Given the description of an element on the screen output the (x, y) to click on. 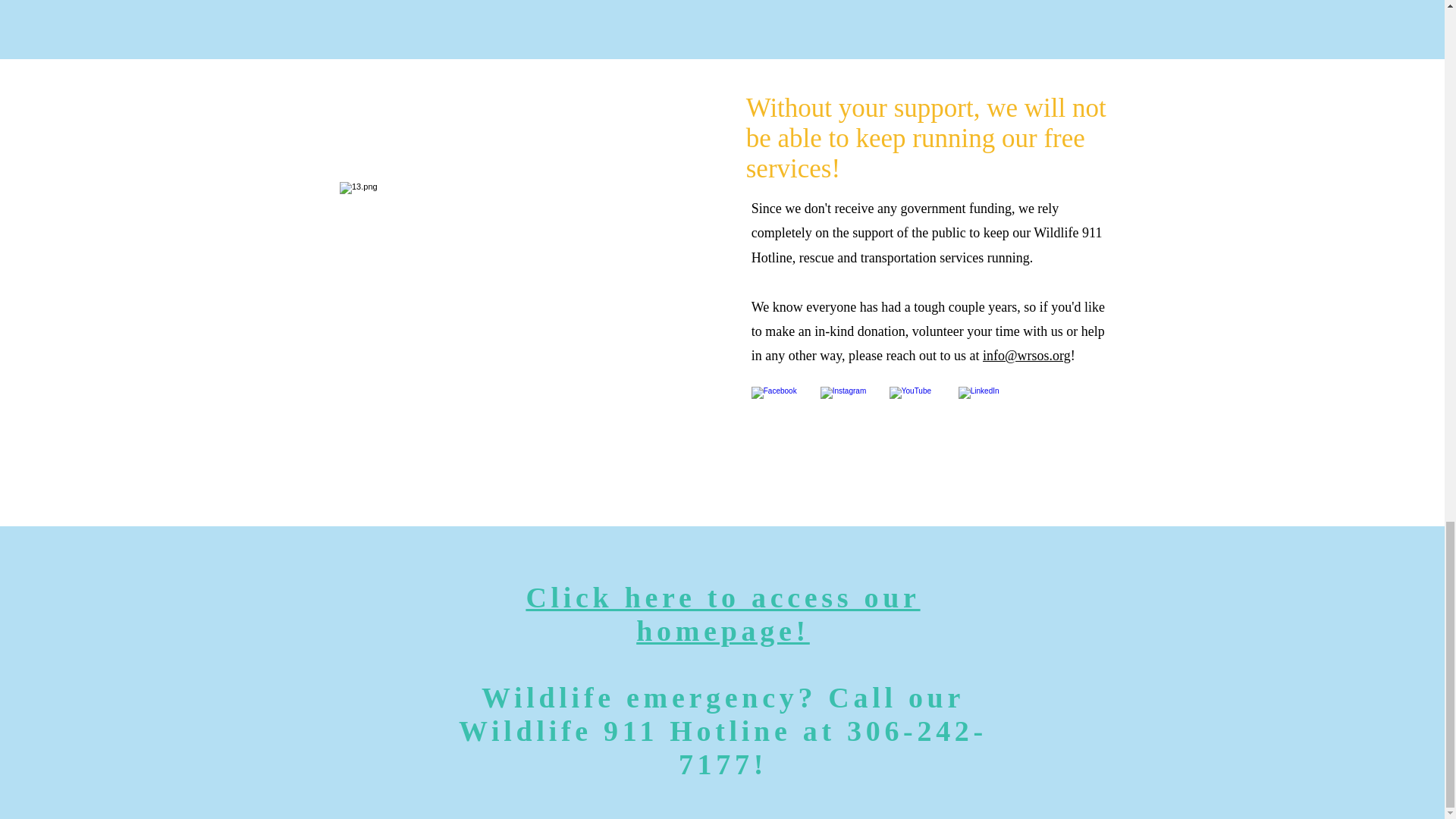
Click here to access our homepage! (722, 614)
